Given the description of an element on the screen output the (x, y) to click on. 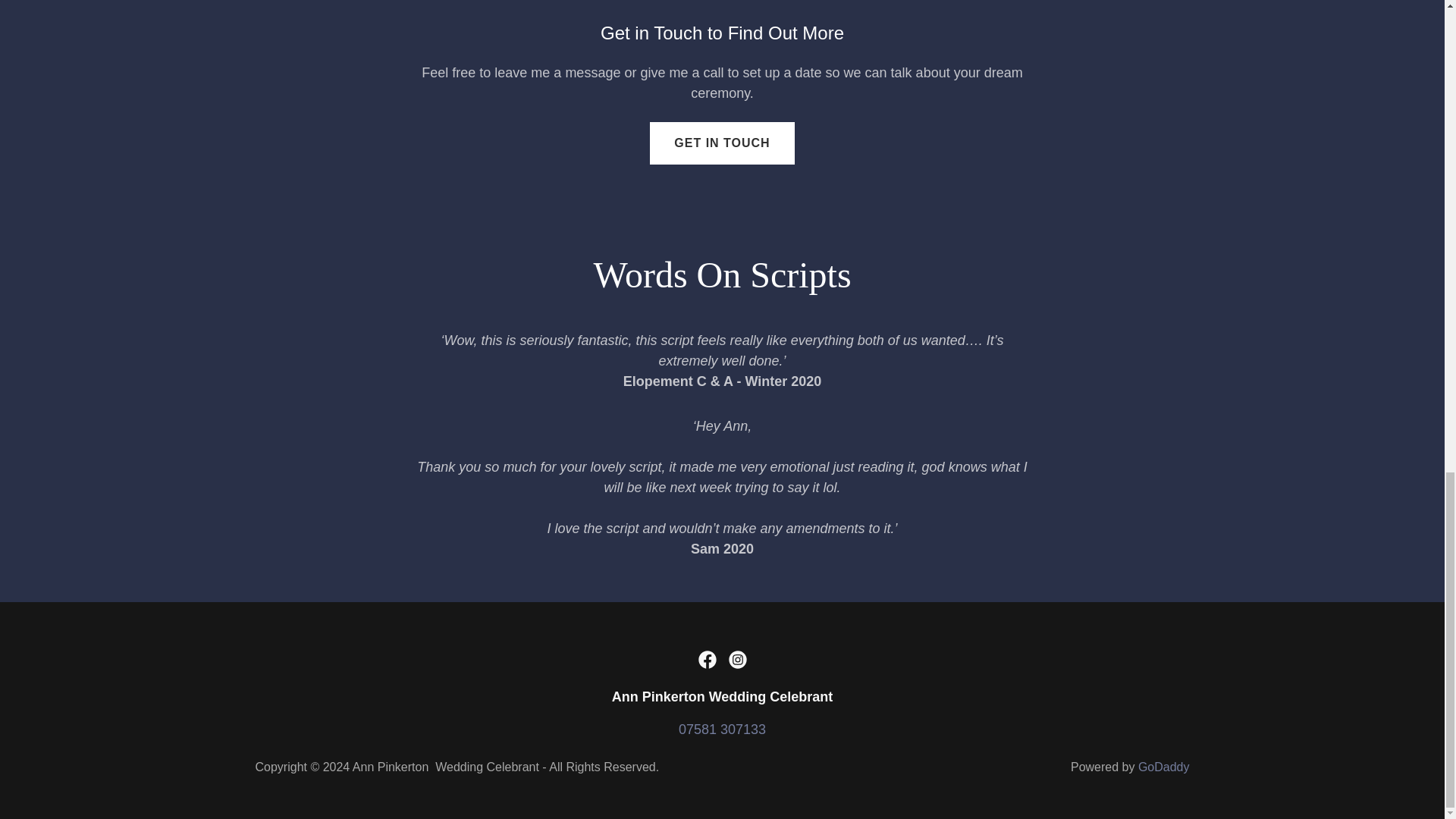
GET IN TOUCH (721, 143)
DECLINE (1203, 16)
GoDaddy (1163, 766)
07581 307133 (721, 729)
ACCEPT (1345, 16)
